Given the description of an element on the screen output the (x, y) to click on. 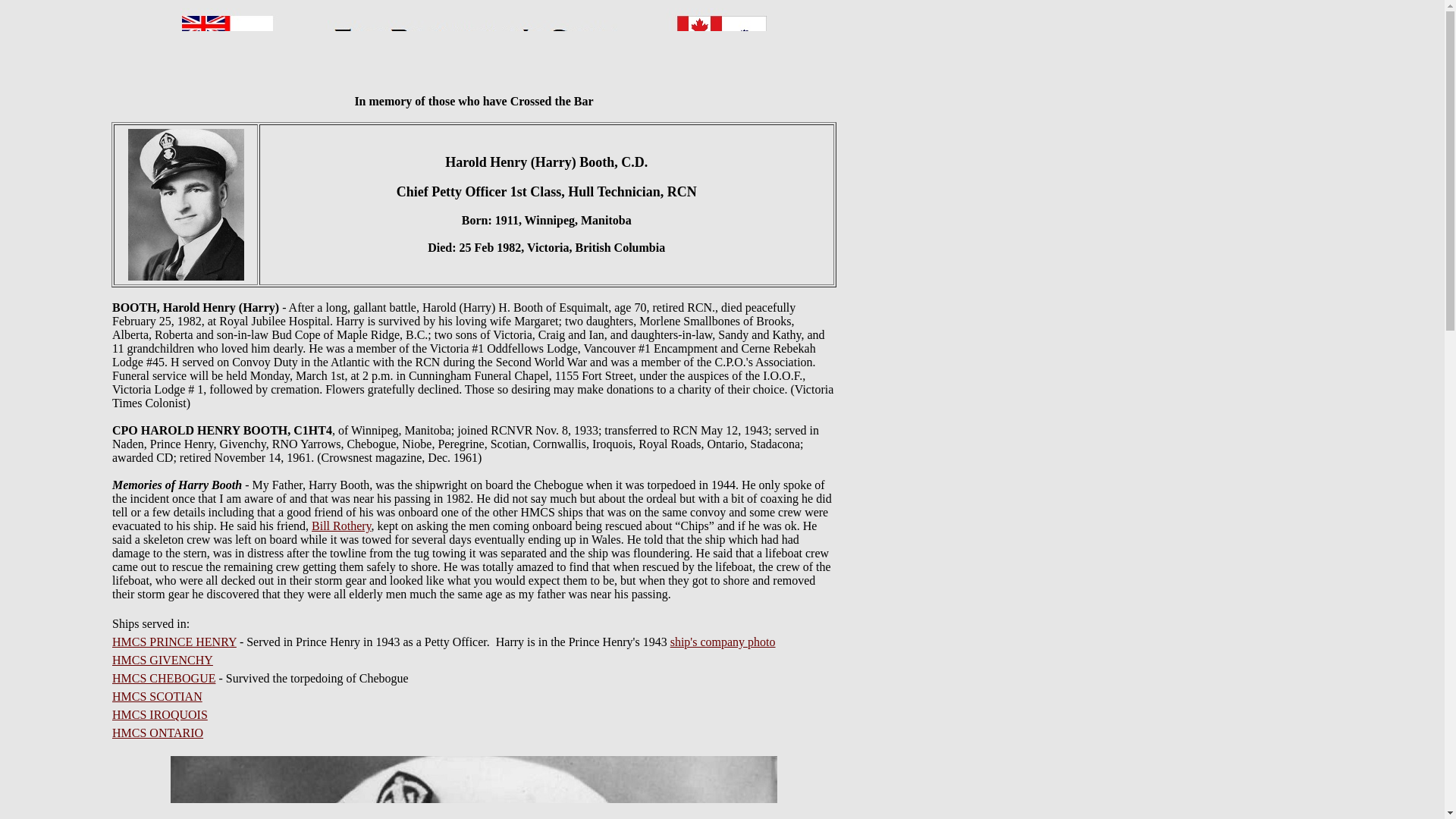
ship's company photo (722, 641)
HMCS ONTARIO (157, 732)
HMCS SCOTIAN (157, 696)
HMCS PRINCE HENRY (173, 641)
HMCS IROQUOIS (160, 714)
Bill Rothery (341, 525)
HMCS CHEBOGUE (163, 677)
HMCS GIVENCHY (162, 659)
